Given the description of an element on the screen output the (x, y) to click on. 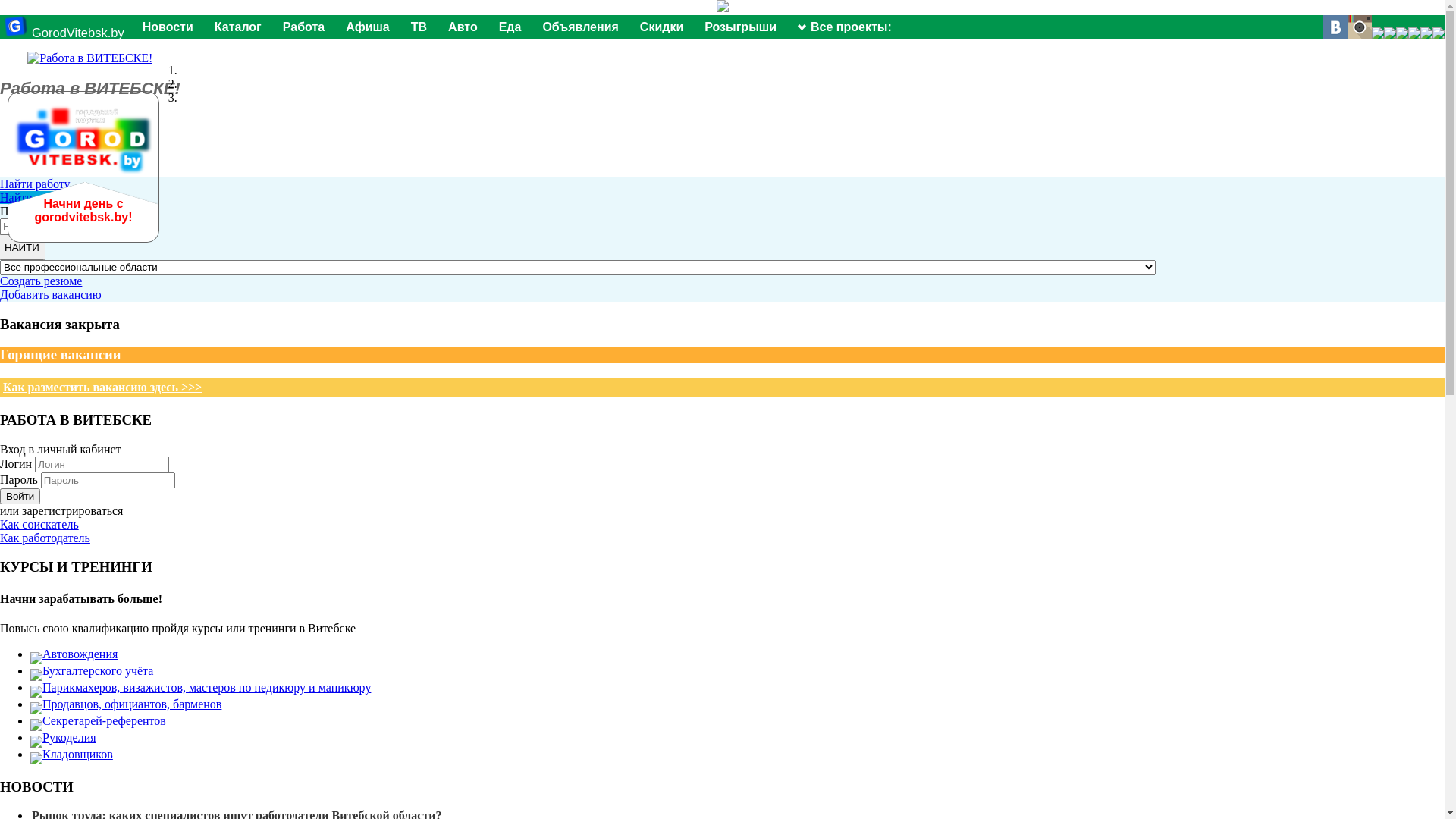
GorodVitebsk.by Element type: text (63, 32)
